Given the description of an element on the screen output the (x, y) to click on. 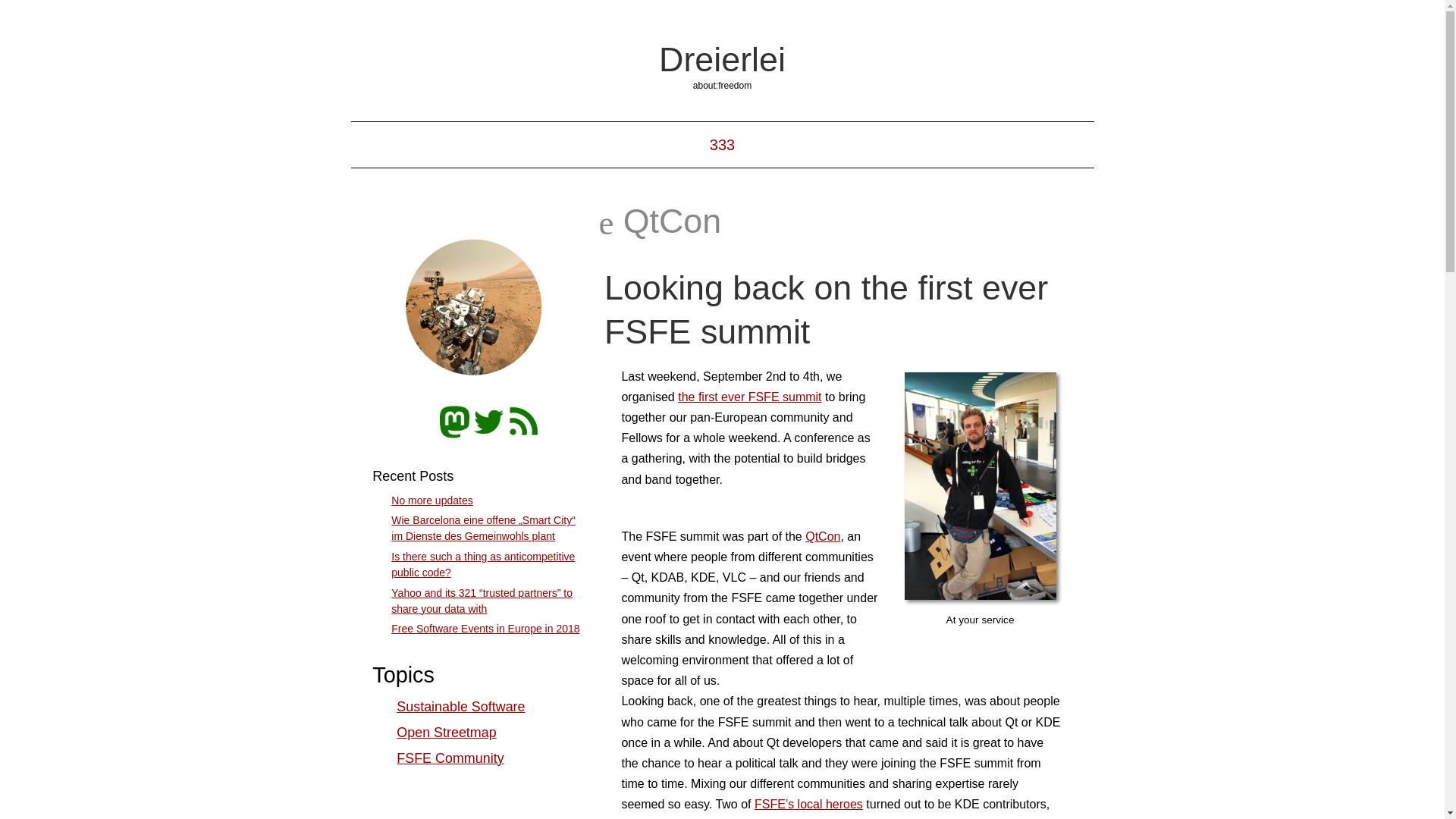
333 (722, 144)
the first ever FSFE summit (749, 396)
QtCon (822, 535)
Looking back on the first ever FSFE summit (826, 309)
Dreierlei (722, 58)
Erik Albers (477, 309)
